Given the description of an element on the screen output the (x, y) to click on. 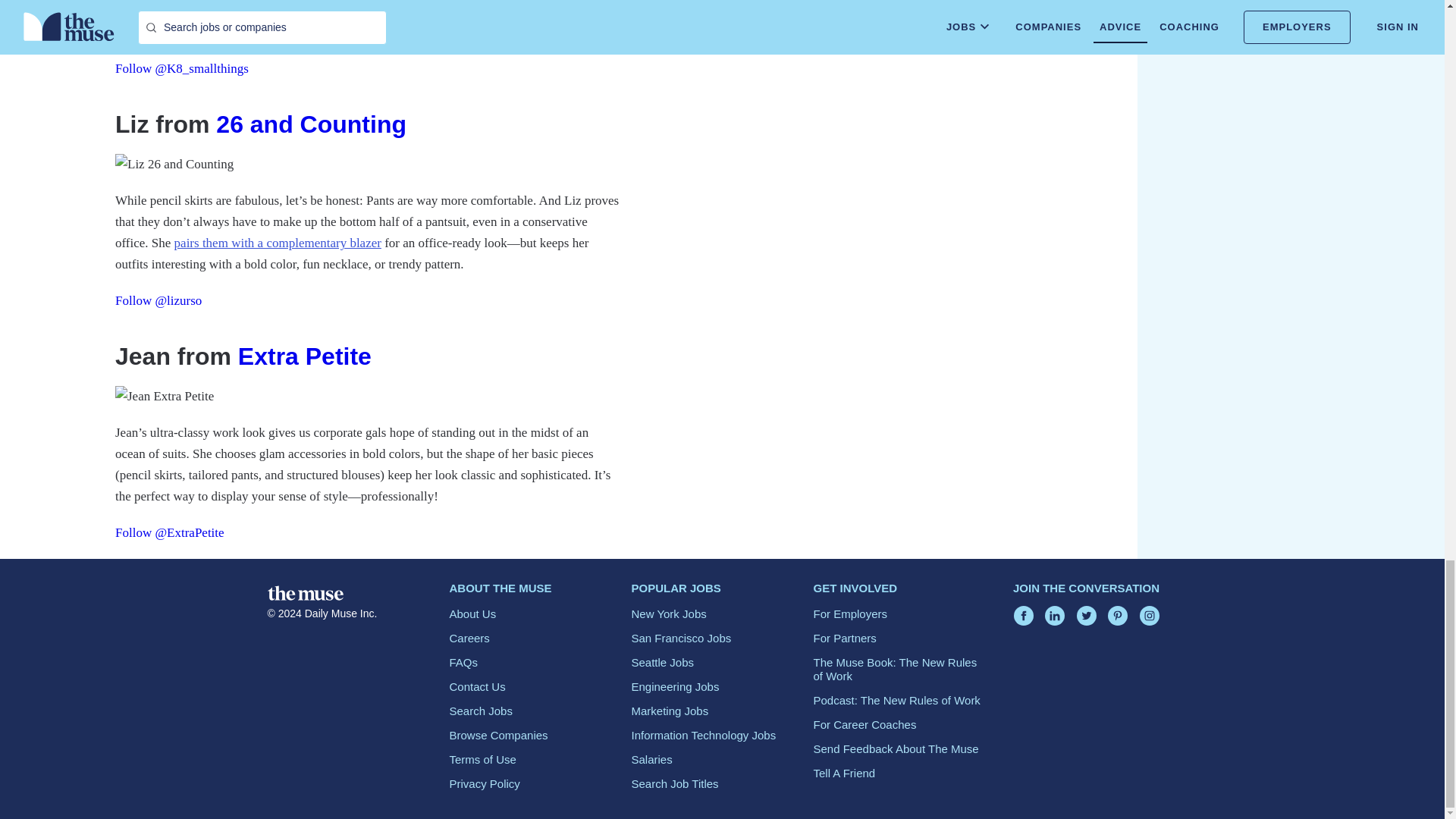
5 Perfect Ways to Wear a Blazer (277, 242)
The Muse LogoA logo with "the muse" in white text. (304, 592)
